Given the description of an element on the screen output the (x, y) to click on. 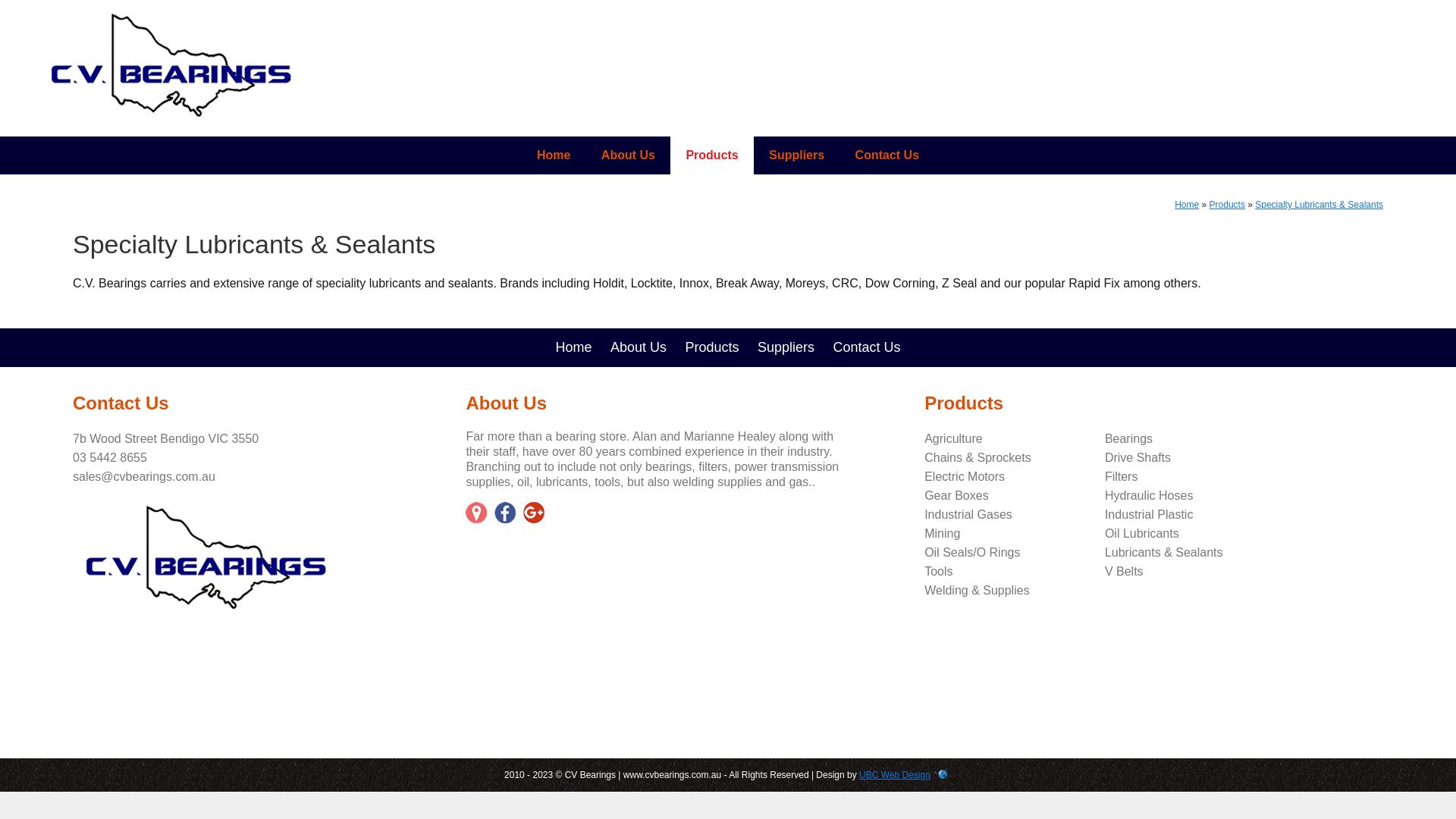
Our Location on Google maps Element type: hover (479, 512)
Products Element type: text (1227, 204)
Home Element type: text (573, 346)
Contact Us Element type: text (887, 155)
Suppliers Element type: text (796, 155)
Suppliers Element type: text (785, 346)
Hydraulic Hoses Element type: text (1148, 495)
Welding & Supplies Element type: text (976, 589)
Contact Us Element type: text (866, 346)
Home Element type: text (1186, 204)
Electric Motors Element type: text (964, 476)
Gear Boxes Element type: text (956, 495)
03 5442 8655 Element type: text (109, 457)
Bearings Element type: text (1128, 438)
Visit us on Google+ Element type: hover (537, 512)
Drive Shafts Element type: text (1137, 457)
Filters Element type: text (1121, 476)
UBC Web Design Element type: text (894, 774)
Specialty Lubricants & Sealants Element type: text (1319, 204)
Oil Lubricants Element type: text (1141, 533)
7b Wood Street Bendigo VIC 3550 Element type: text (165, 438)
Tools Element type: text (938, 570)
Products Element type: text (711, 155)
Chains & Sprockets Element type: text (977, 457)
About Us Element type: text (638, 346)
Follow us on Facebook Element type: hover (508, 512)
Agriculture Element type: text (953, 438)
Oil Seals/O Rings Element type: text (971, 552)
Lubricants & Sealants Element type: text (1163, 552)
Home Element type: text (553, 155)
sales@cvbearings.com.au Element type: text (143, 476)
CV Bearings Element type: hover (170, 64)
V Belts Element type: text (1123, 570)
Products Element type: text (711, 346)
Industrial Gases Element type: text (968, 514)
CV Bearings Element type: hover (205, 556)
About Us Element type: text (628, 155)
Industrial Plastic Element type: text (1148, 514)
Mining Element type: text (942, 533)
